Given the description of an element on the screen output the (x, y) to click on. 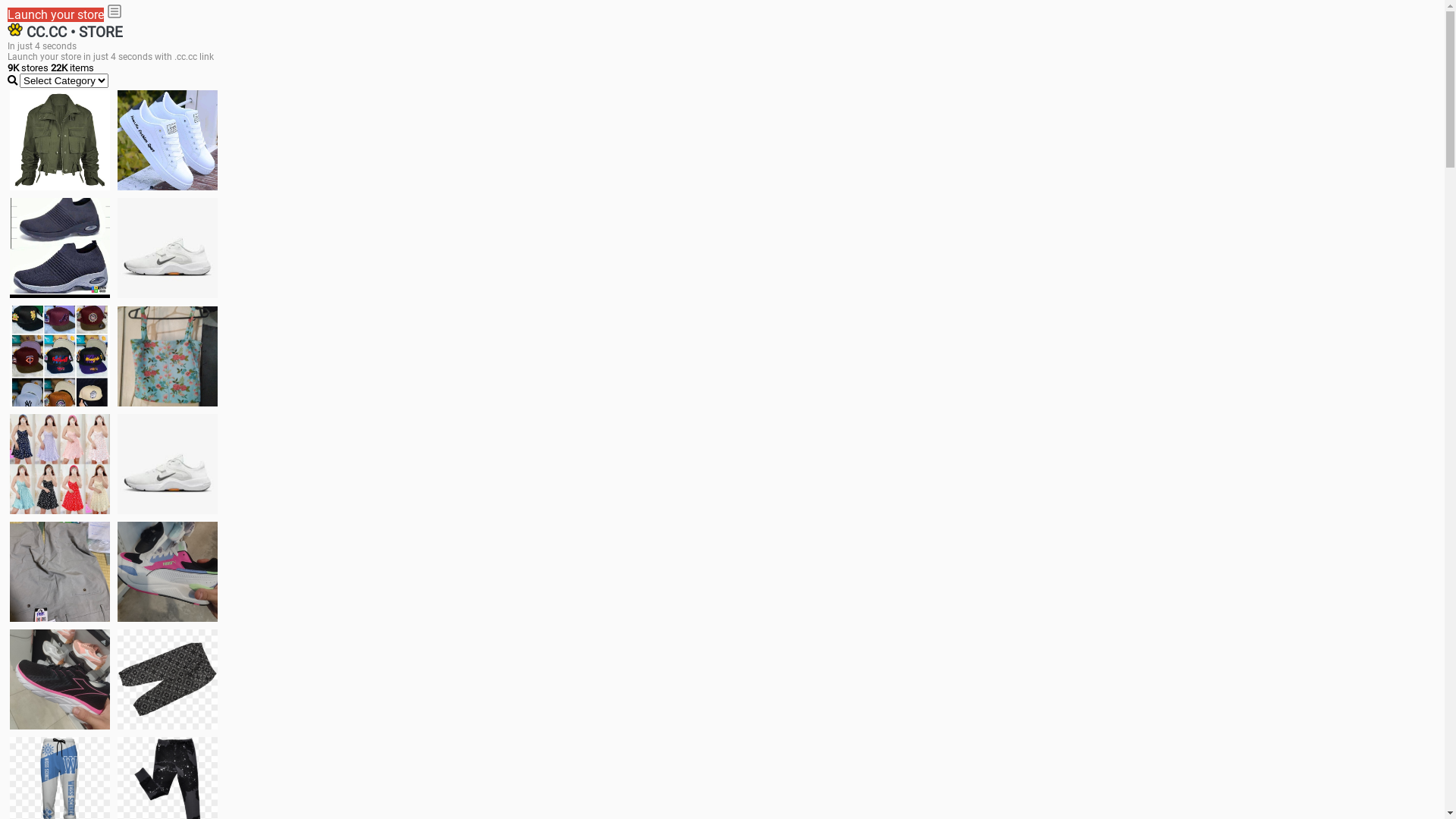
jacket Element type: hover (59, 140)
Things we need Element type: hover (59, 355)
Launch your store Element type: text (55, 14)
Ukay cloth Element type: hover (167, 356)
shoes for boys Element type: hover (59, 247)
Zapatillas Element type: hover (59, 679)
Short pant Element type: hover (167, 679)
Zapatillas pumas Element type: hover (167, 571)
Shoes for boys Element type: hover (167, 247)
Dress/square nect top Element type: hover (59, 464)
white shoes Element type: hover (167, 140)
Shoes Element type: hover (167, 464)
